Given the description of an element on the screen output the (x, y) to click on. 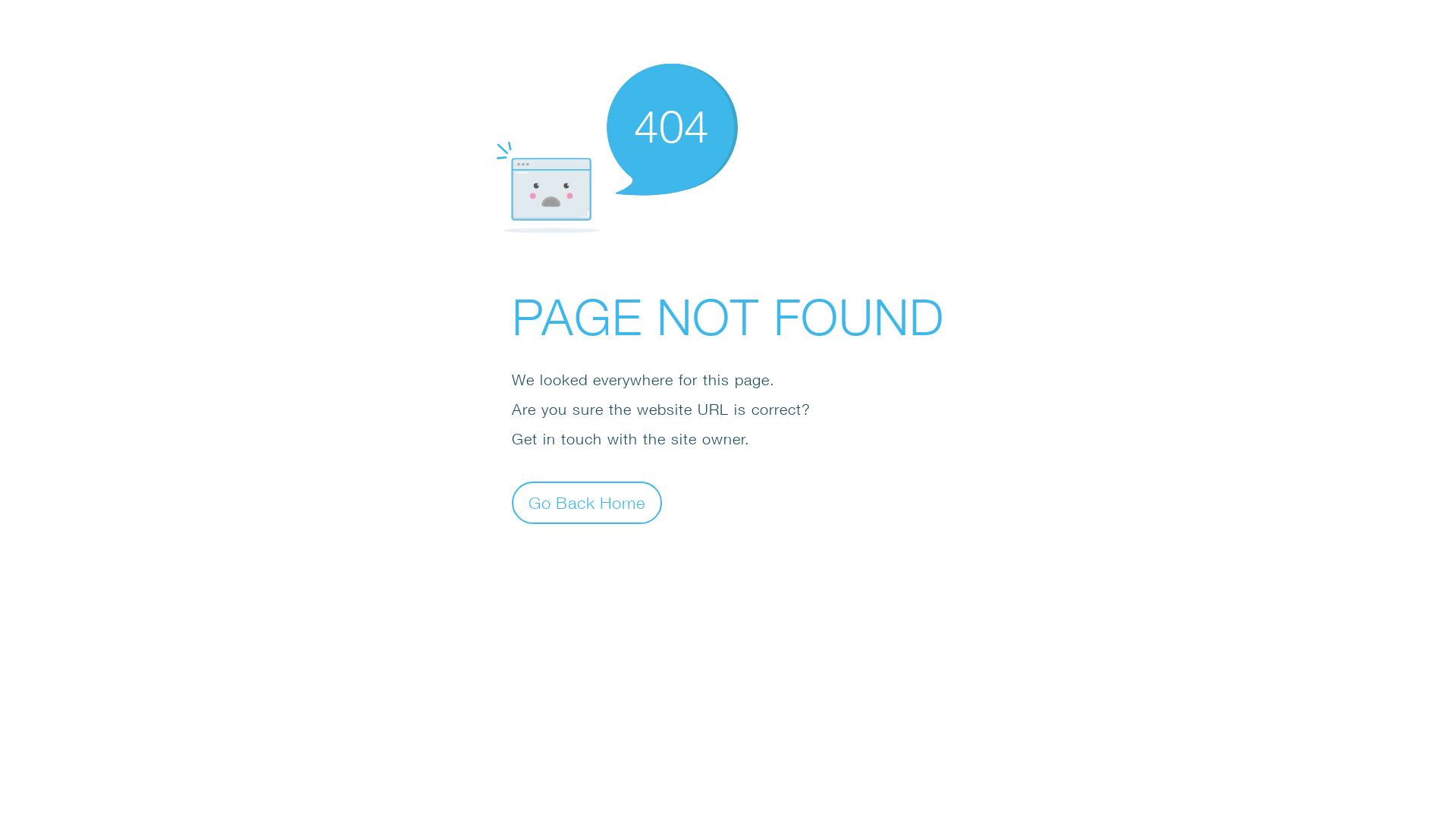
Go Back Home Element type: text (586, 502)
